Given the description of an element on the screen output the (x, y) to click on. 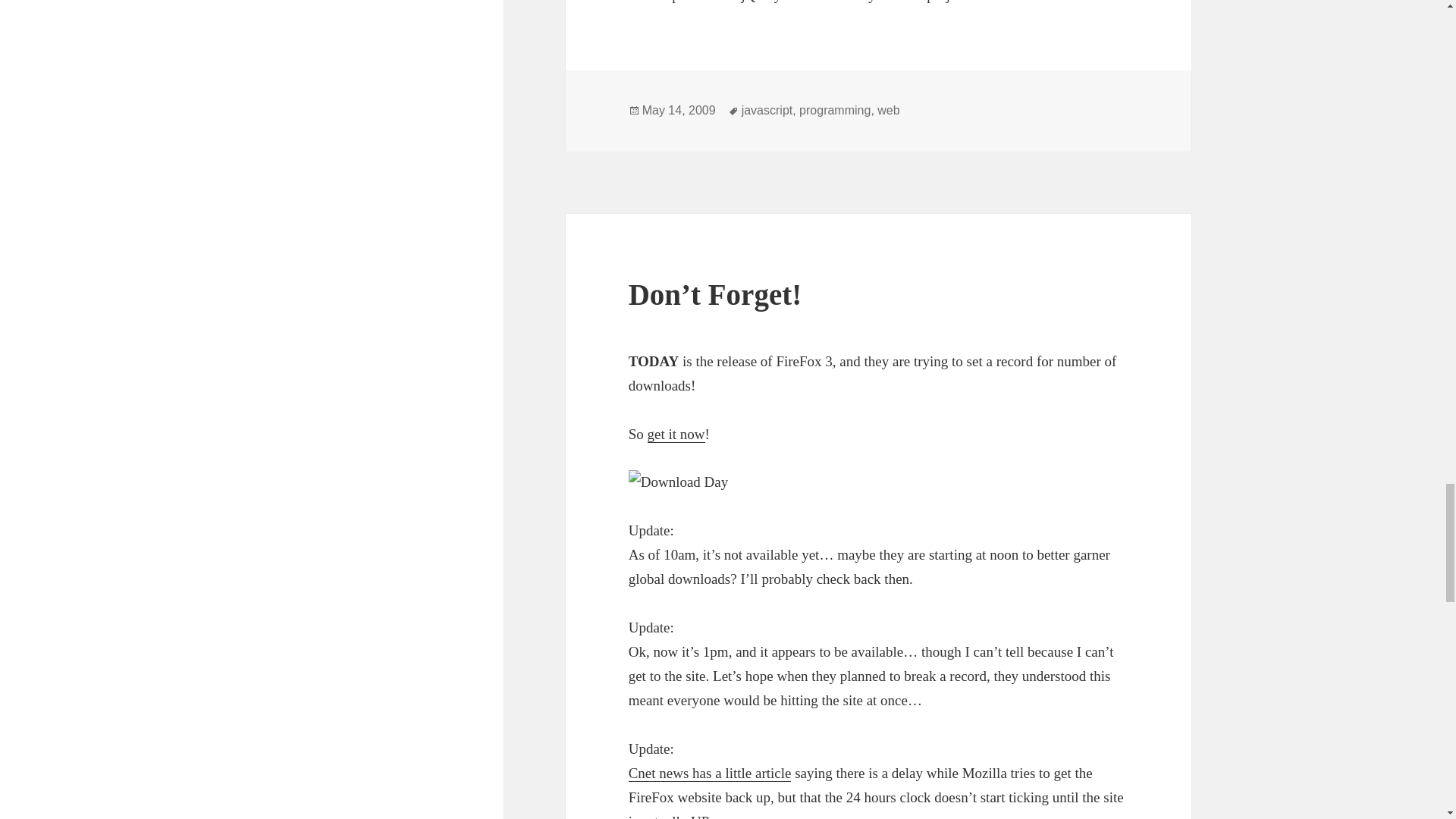
Download Day (878, 482)
